Given the description of an element on the screen output the (x, y) to click on. 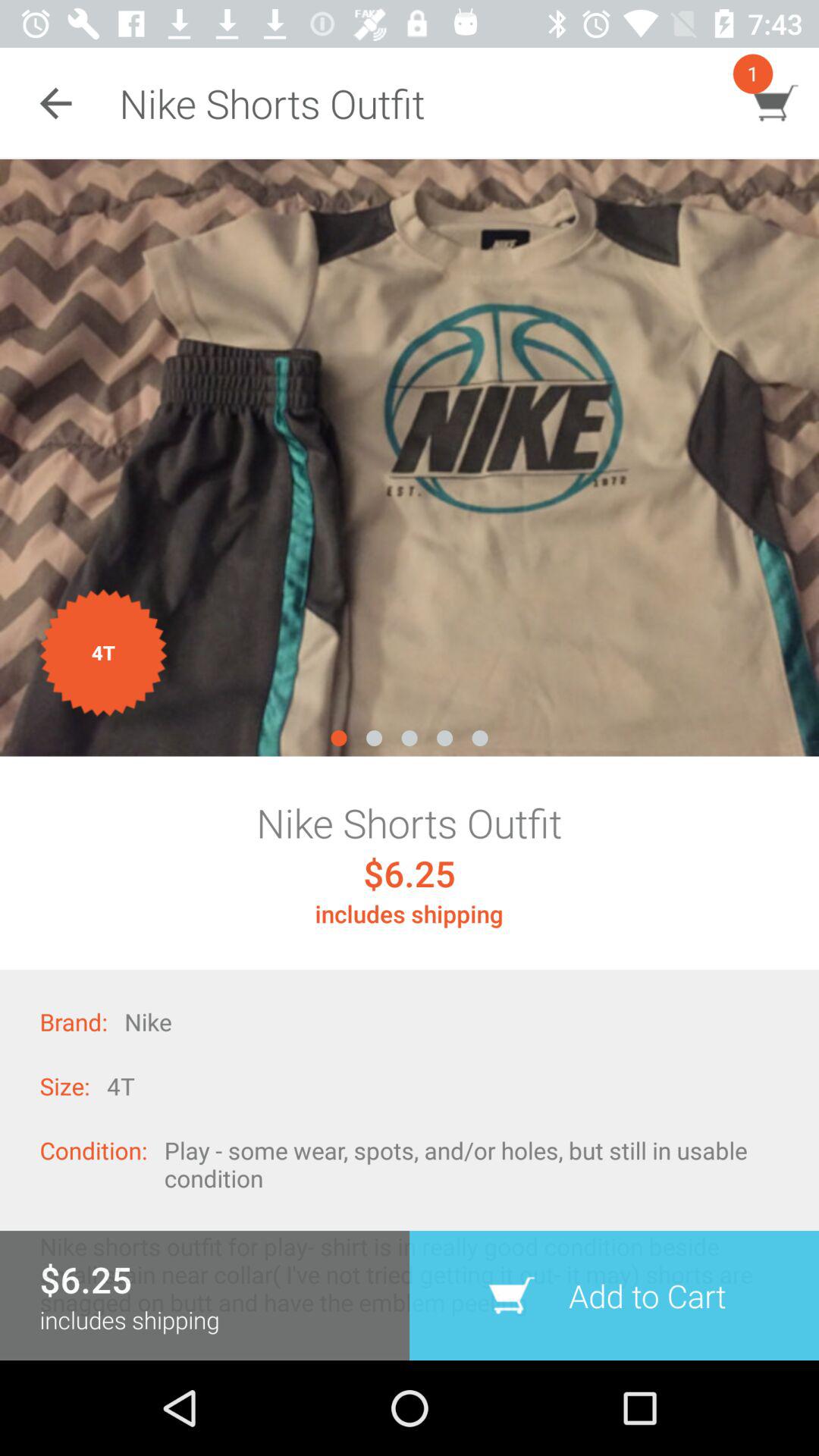
press the item at the bottom right corner (614, 1295)
